Given the description of an element on the screen output the (x, y) to click on. 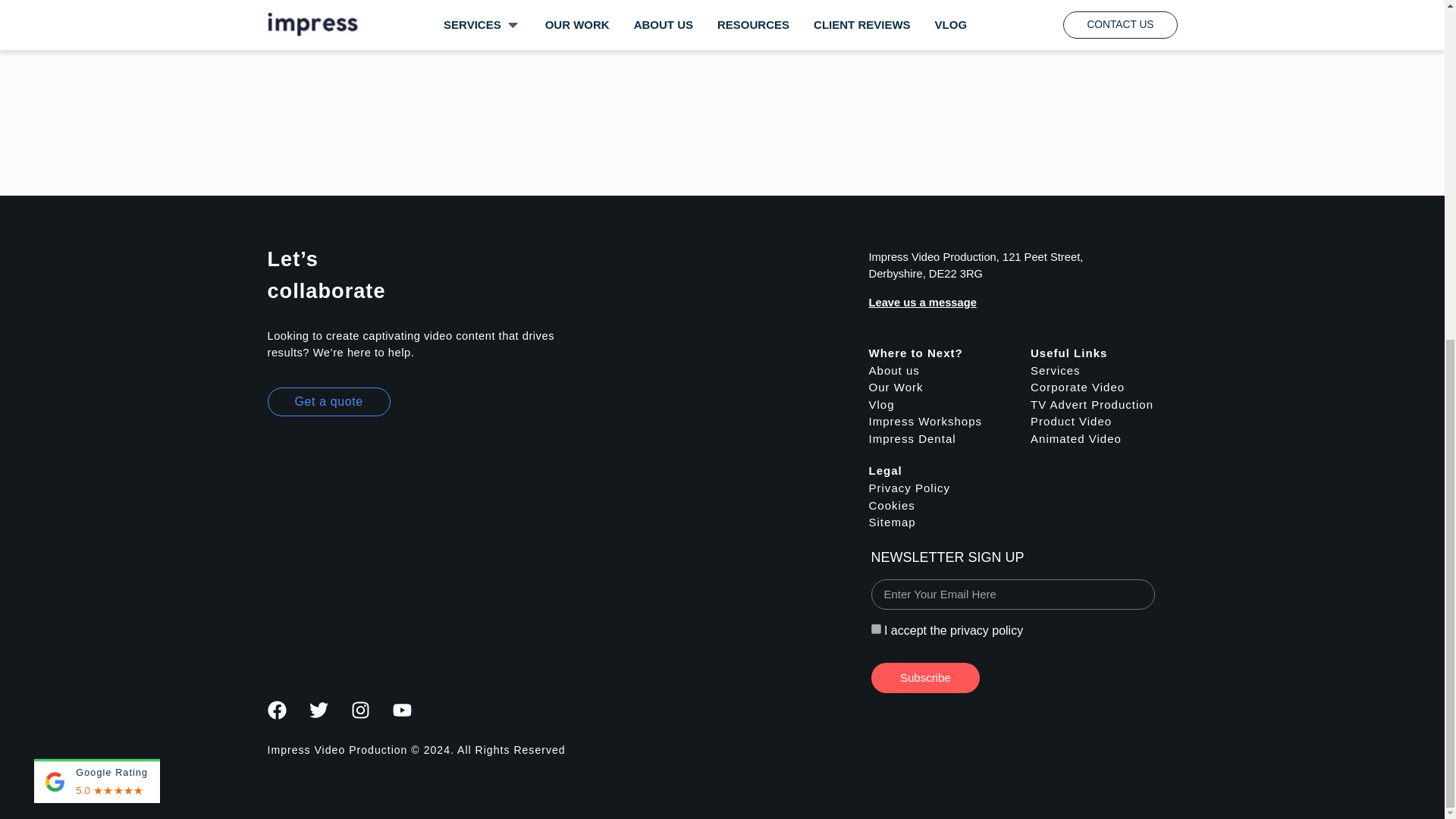
on (875, 628)
